Given the description of an element on the screen output the (x, y) to click on. 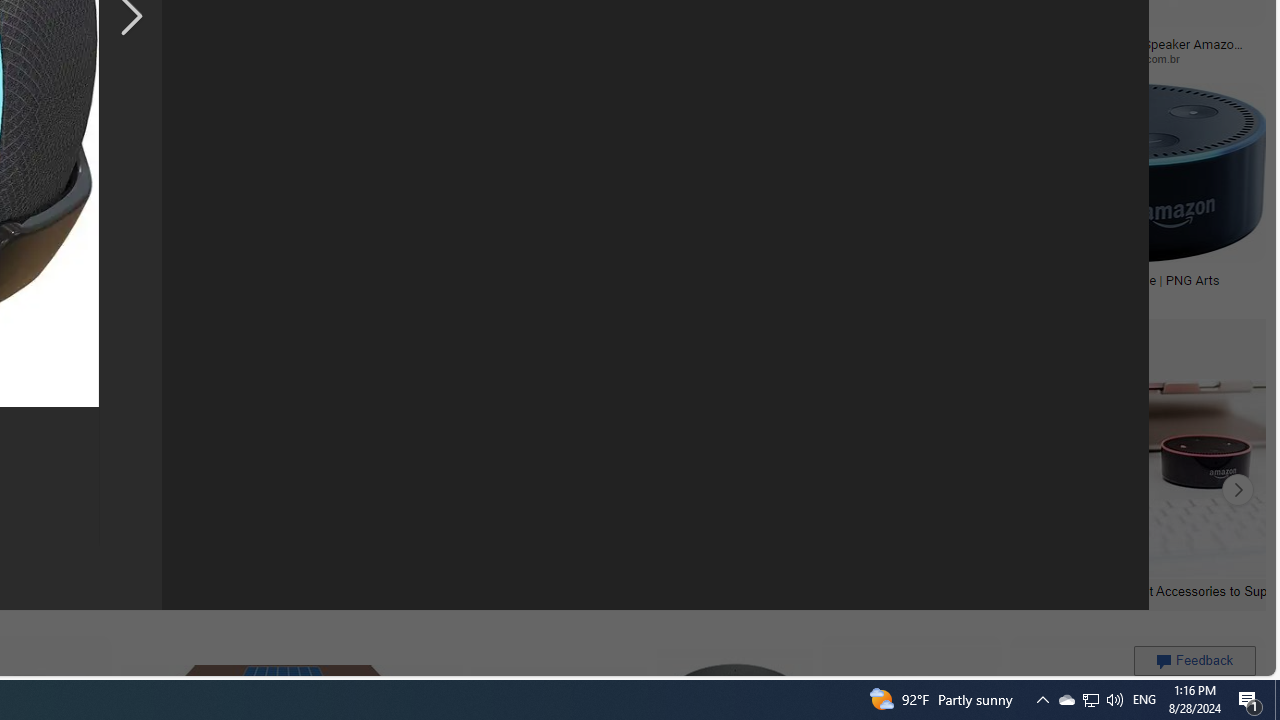
avenidatecnologica.com (960, 58)
inpower.com.br (1181, 58)
avenidatecnologica.com (905, 57)
skroutz.gr (359, 295)
Alexa Dot Transparent Image | PNG Artspngarts.comSave (1122, 196)
winmaec.com (705, 57)
Click to scroll right (1238, 489)
Amazon Echo Dot Kids Edition - 5th Generation (117, 286)
